Given the description of an element on the screen output the (x, y) to click on. 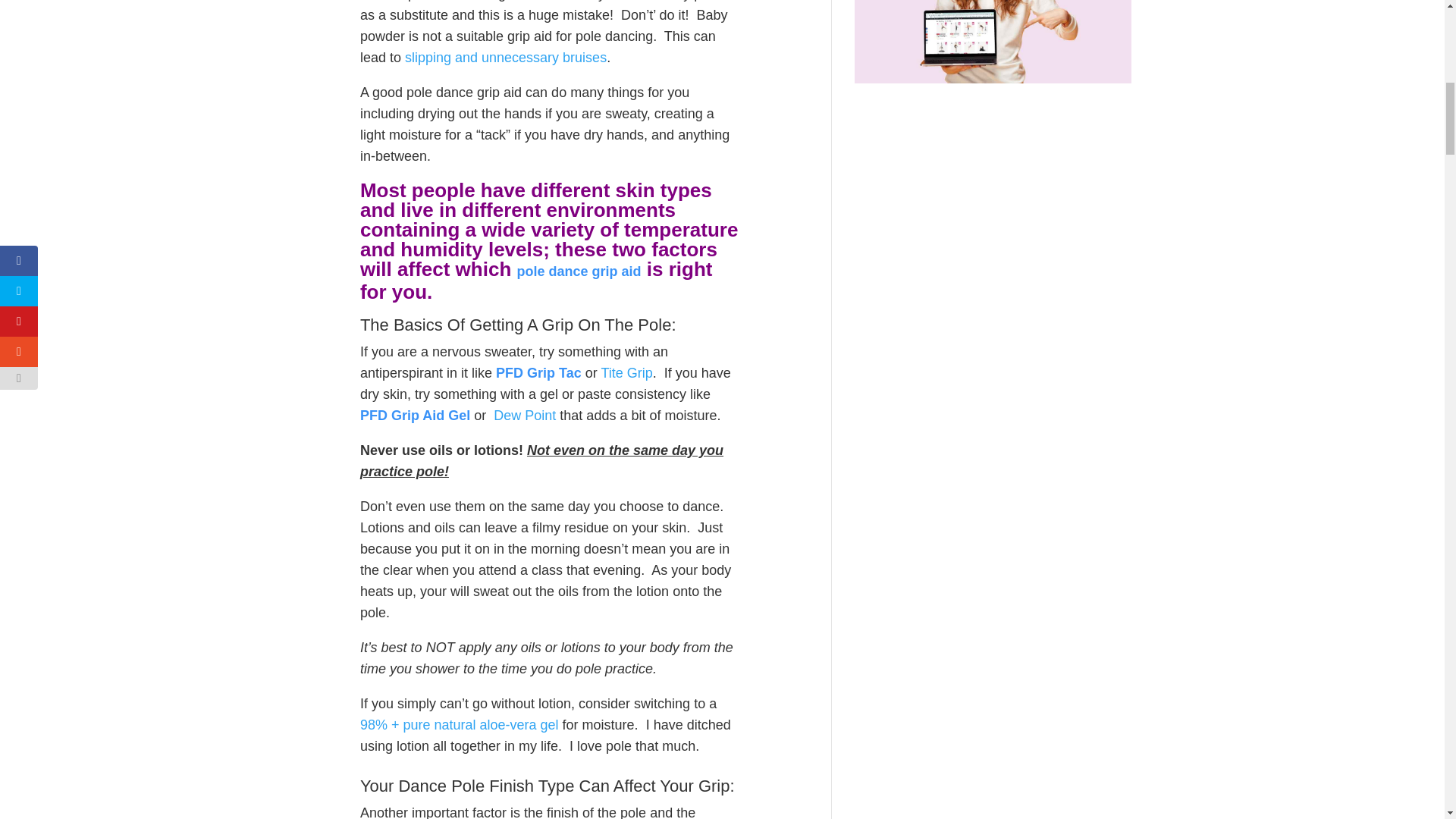
How To Get Rid Of And Stop Bruising When Pole Dancing (505, 57)
